Given the description of an element on the screen output the (x, y) to click on. 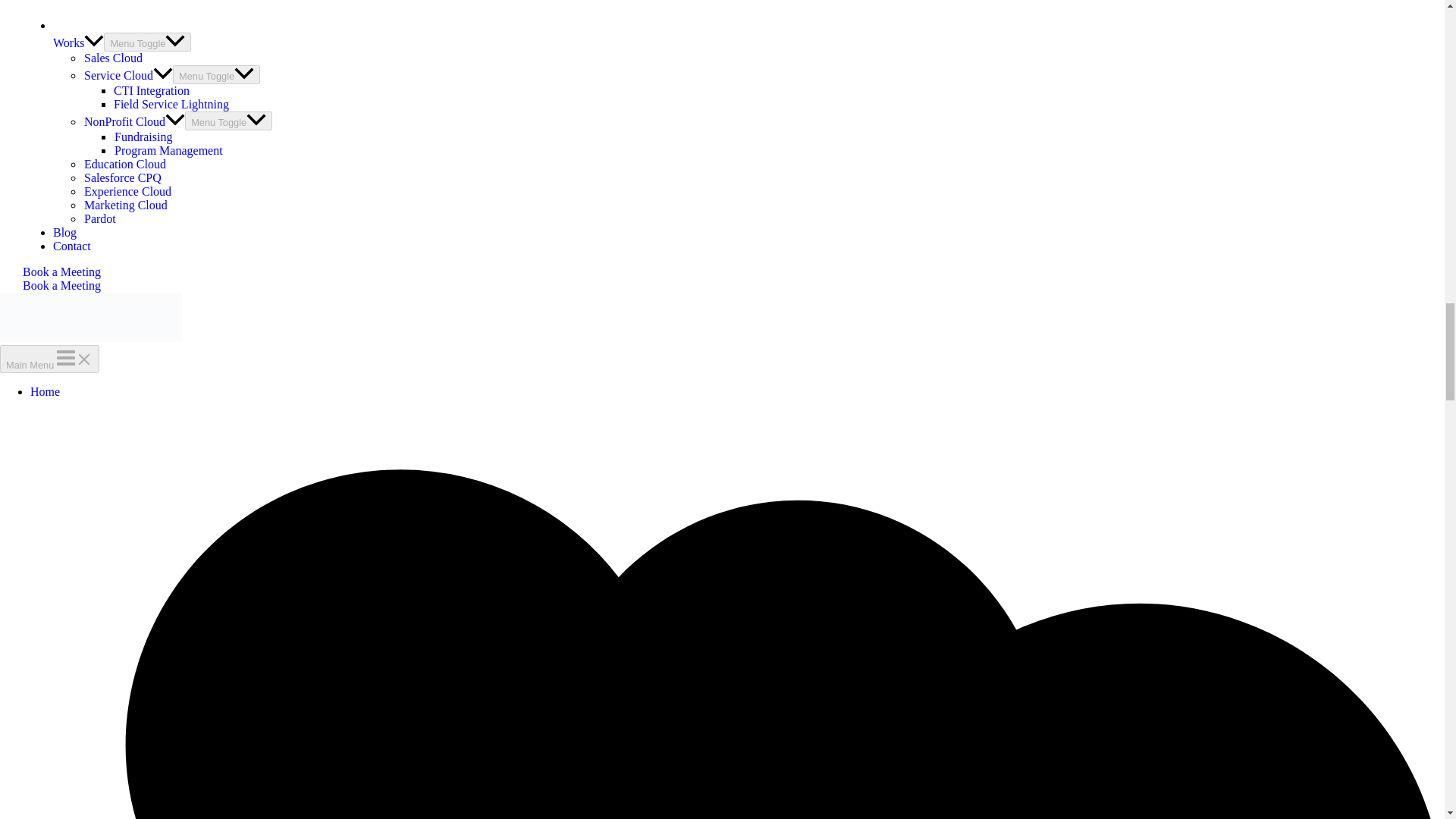
Field Service Lightning (170, 103)
Menu Toggle (216, 74)
Blog (64, 232)
Sales Cloud (112, 57)
NonProfit Cloud (133, 121)
Salesforce CPQ (121, 177)
Experience Cloud (126, 191)
Menu Toggle (146, 41)
Menu Toggle (228, 120)
Education Cloud (123, 164)
